Given the description of an element on the screen output the (x, y) to click on. 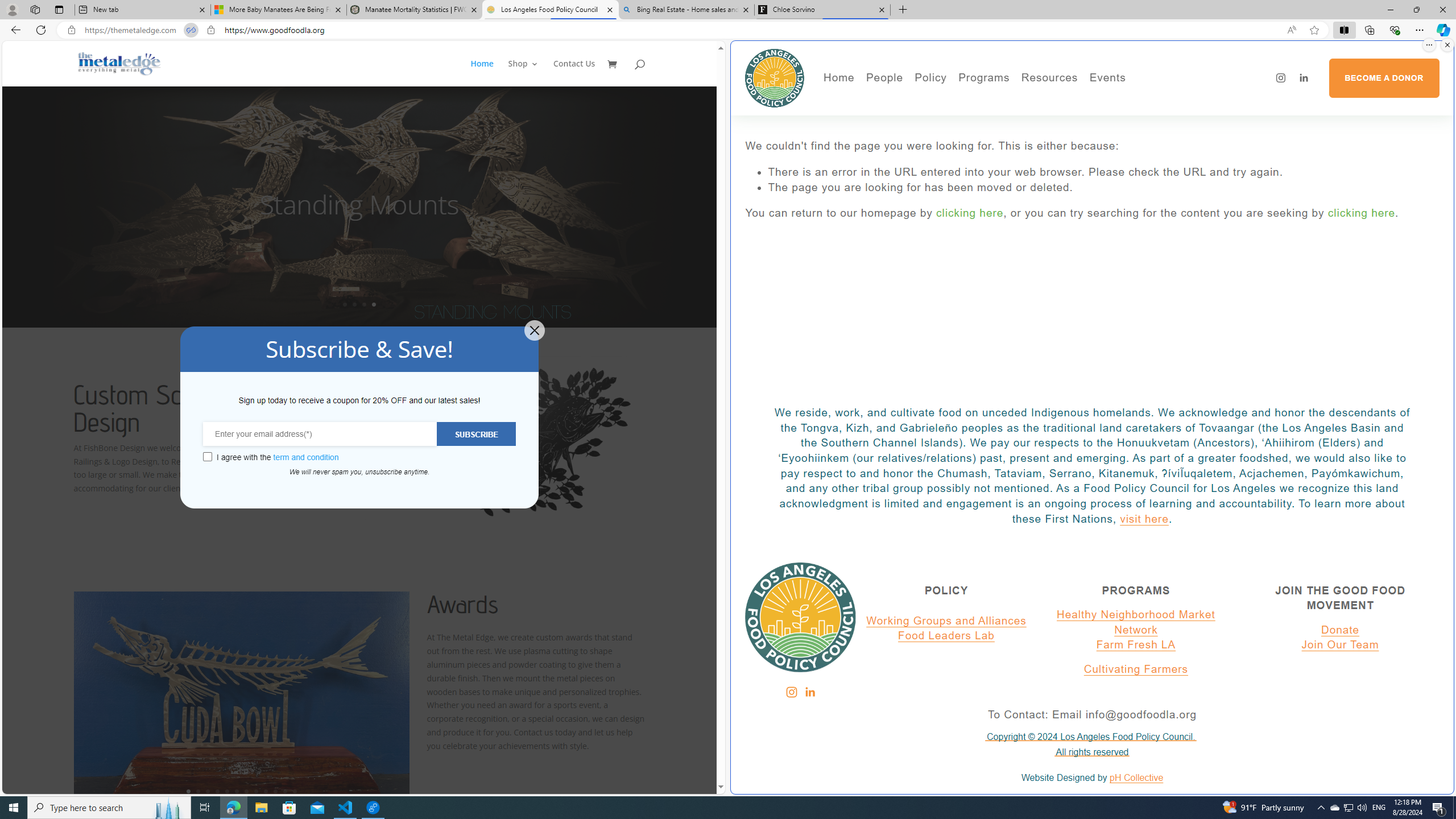
Close (1442, 9)
Reports (922, 165)
LinkedIn (809, 692)
Back (13, 29)
Close tab (881, 9)
Home (488, 72)
6 (236, 790)
Join Our Team (1339, 645)
visit here (1144, 519)
About (922, 99)
Instagram (790, 692)
11 (284, 790)
term and condition (306, 456)
Metal Fish Sculptures & Metal Designs (119, 63)
12 (294, 790)
